Given the description of an element on the screen output the (x, y) to click on. 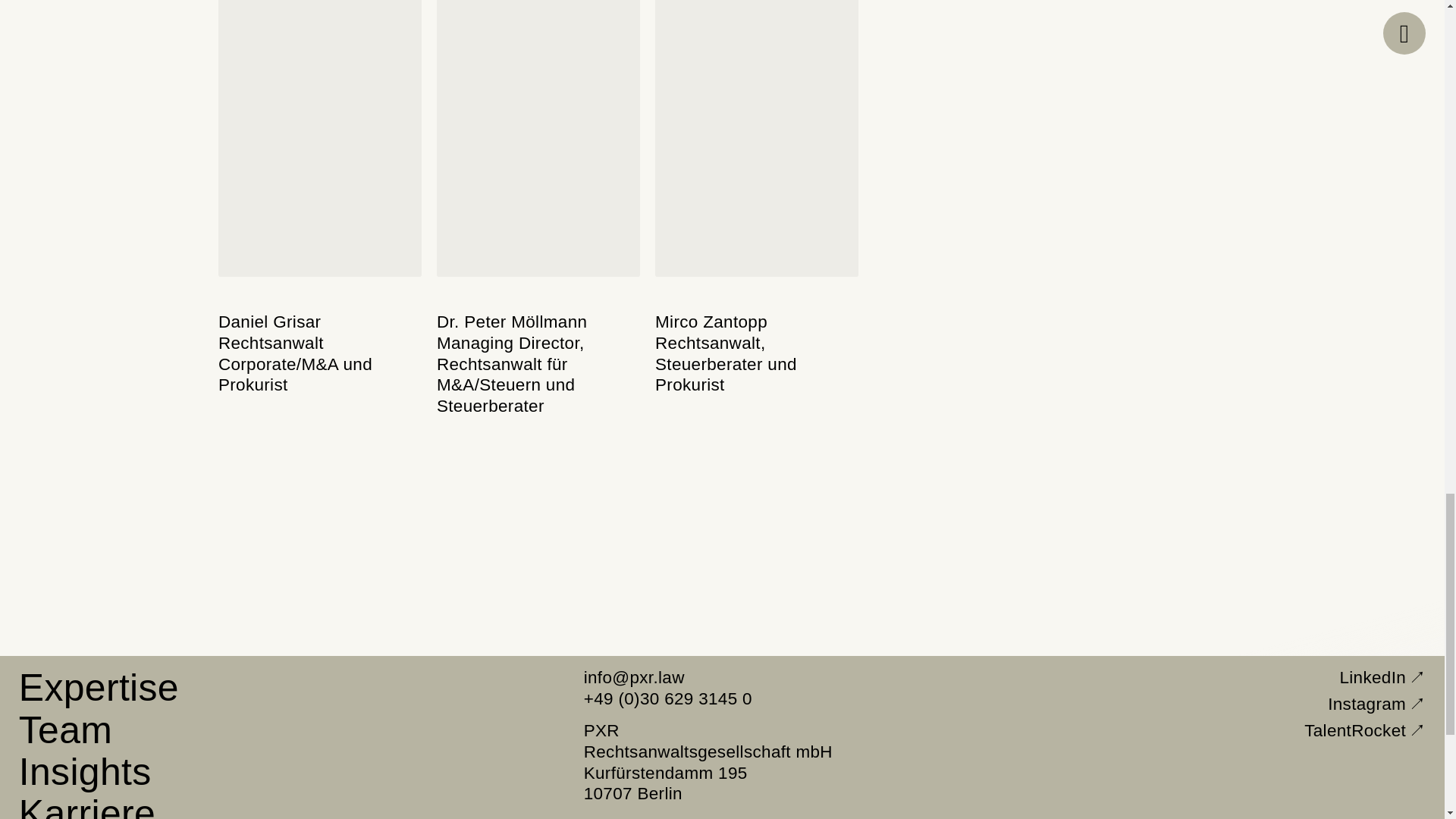
Expertise (96, 686)
Karriere (85, 805)
Team (63, 728)
Instagram (1377, 703)
Insights (82, 771)
LinkedIn (1383, 676)
TalentRocket (1365, 730)
